Given the description of an element on the screen output the (x, y) to click on. 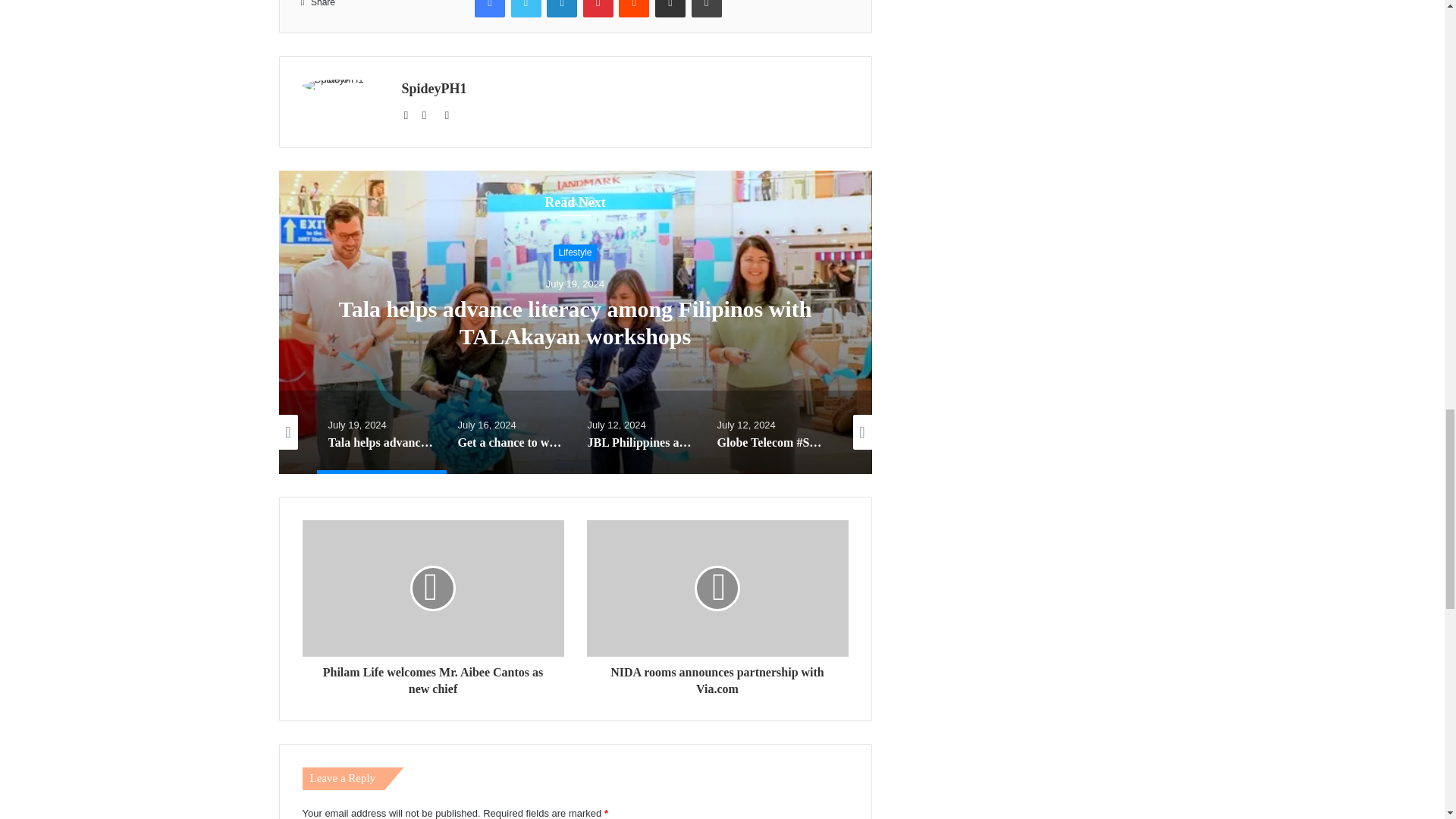
Pinterest (597, 8)
Print (706, 8)
LinkedIn (561, 8)
Twitter (526, 8)
Reddit (633, 8)
Facebook (429, 115)
Website (410, 115)
Share via Email (670, 8)
Facebook (489, 8)
SpideyPH1 (434, 88)
